Given the description of an element on the screen output the (x, y) to click on. 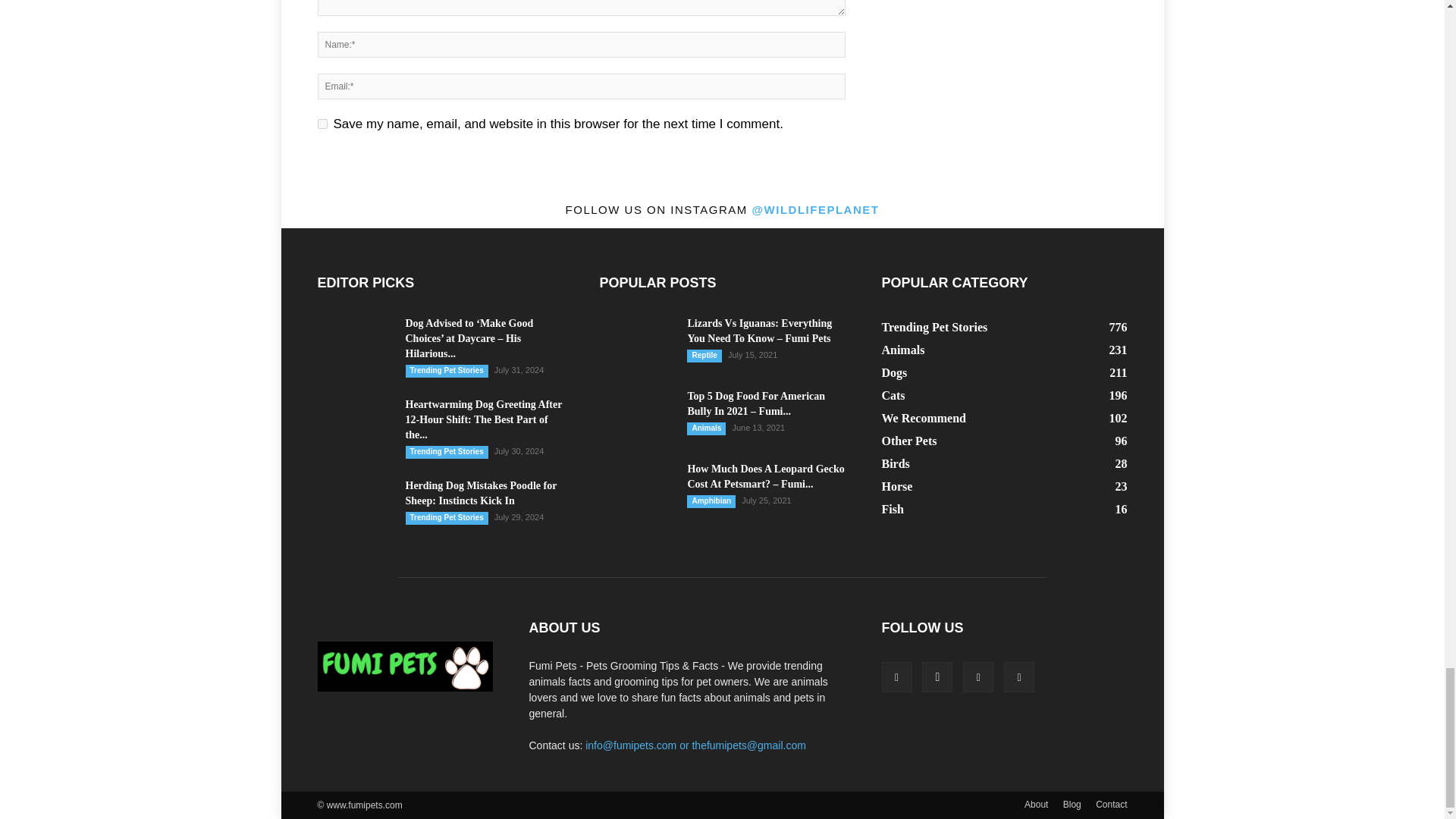
yes (321, 123)
